Given the description of an element on the screen output the (x, y) to click on. 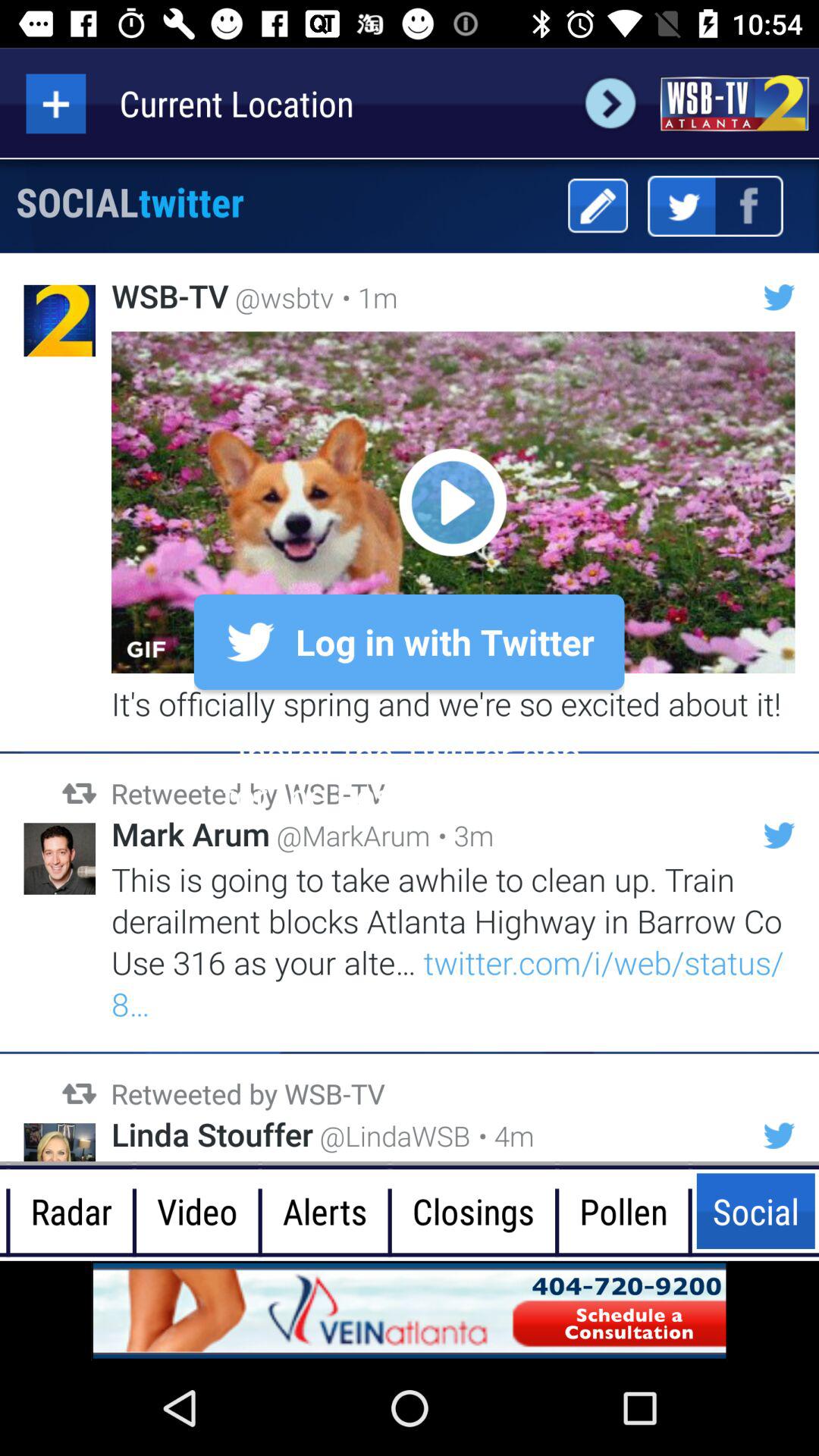
select video (453, 502)
click edit button (598, 205)
click on f (748, 205)
select the log in with twitter (409, 642)
move to icon which is left to 3m (779, 835)
